Given the description of an element on the screen output the (x, y) to click on. 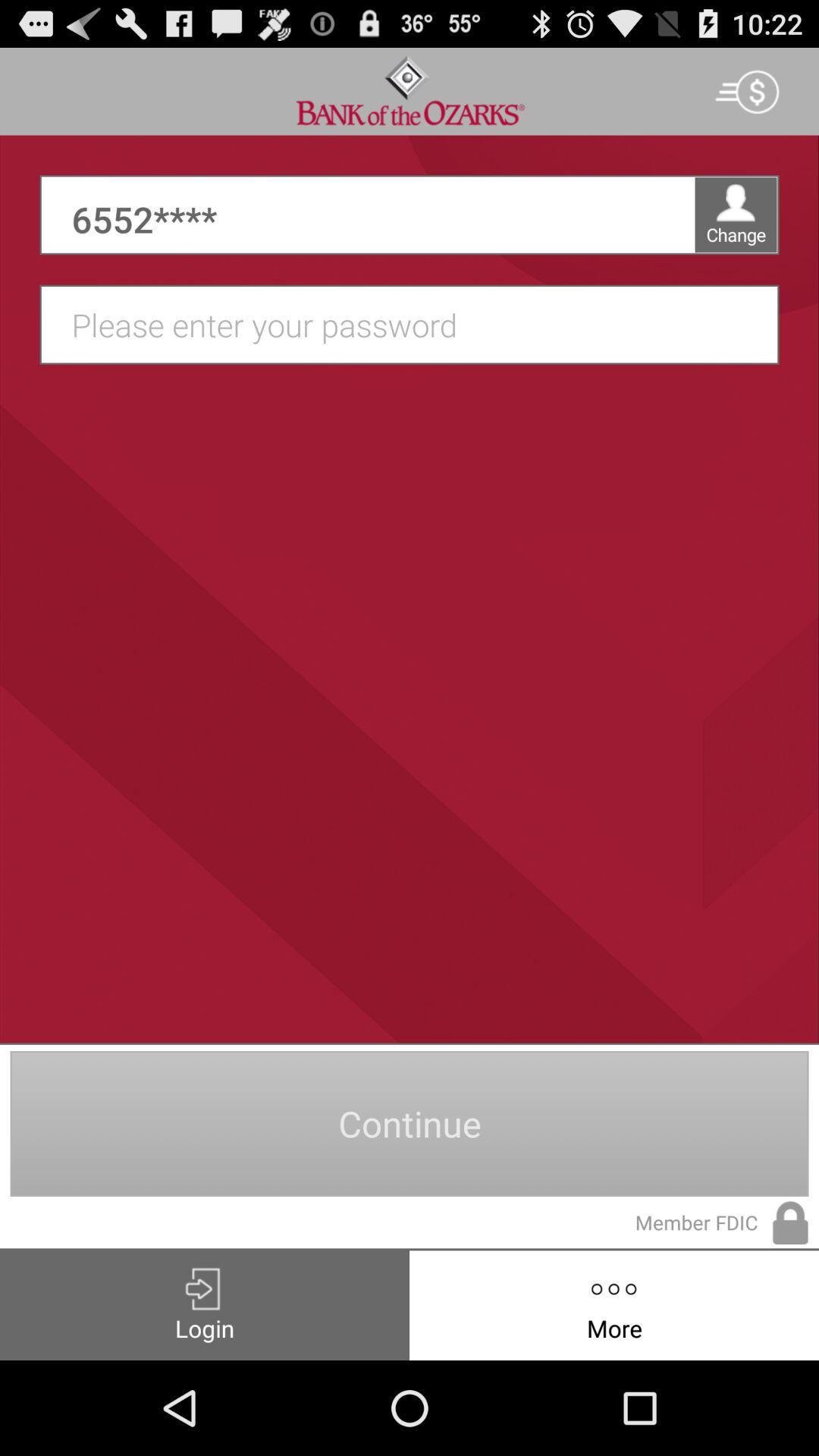
text field (417, 324)
